Given the description of an element on the screen output the (x, y) to click on. 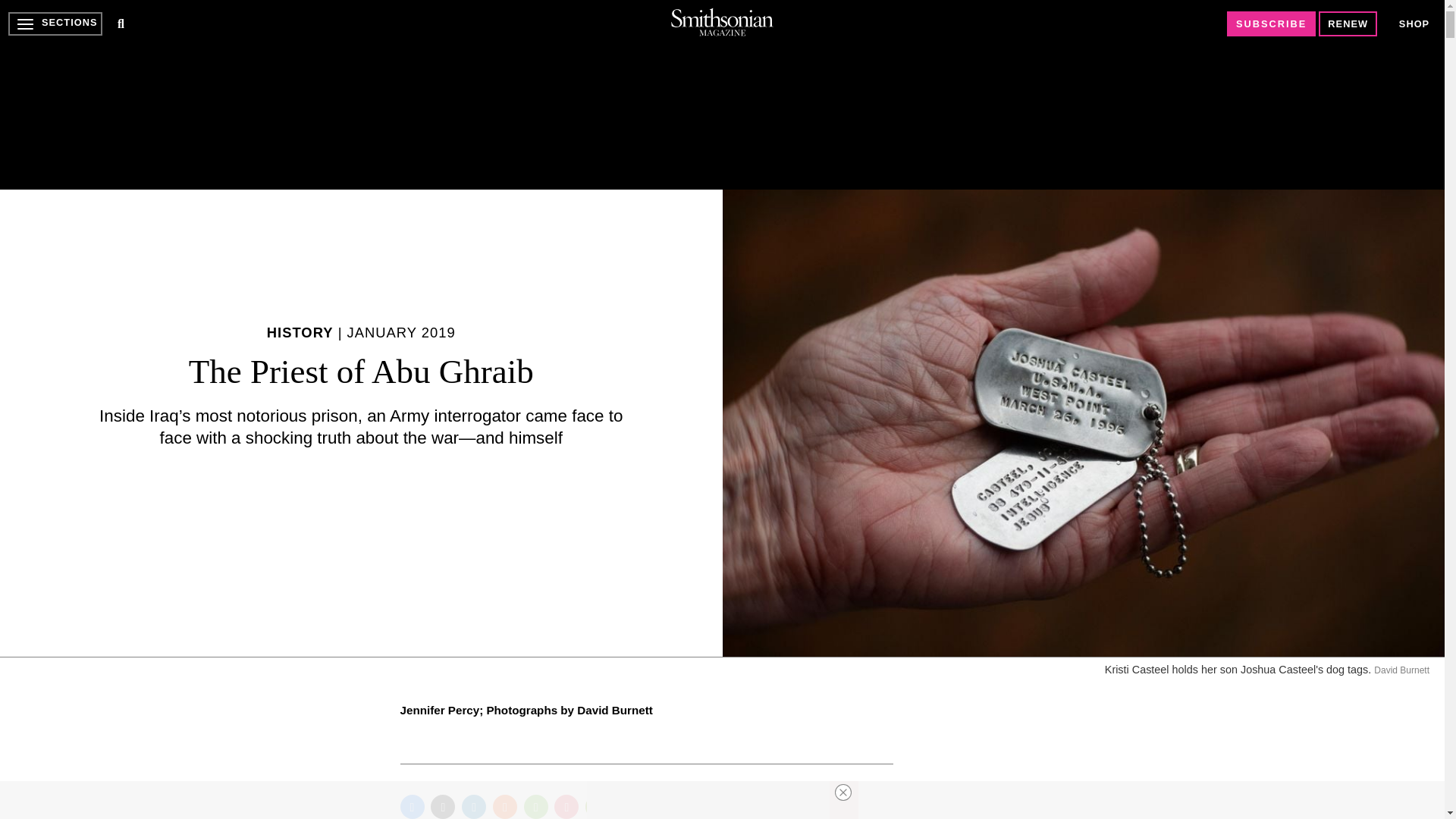
3rd party ad content (707, 800)
RENEW (1347, 23)
SECTIONS (55, 23)
RENEW (1348, 23)
Facebook (412, 806)
SHOP (1413, 23)
Print (597, 806)
SHOP (1414, 23)
Twitter (442, 806)
Pocket (566, 806)
Reddit (504, 806)
3rd party ad content (721, 94)
WhatsApp (536, 806)
LinkedIn (473, 806)
SUBSCRIBE (1271, 23)
